Given the description of an element on the screen output the (x, y) to click on. 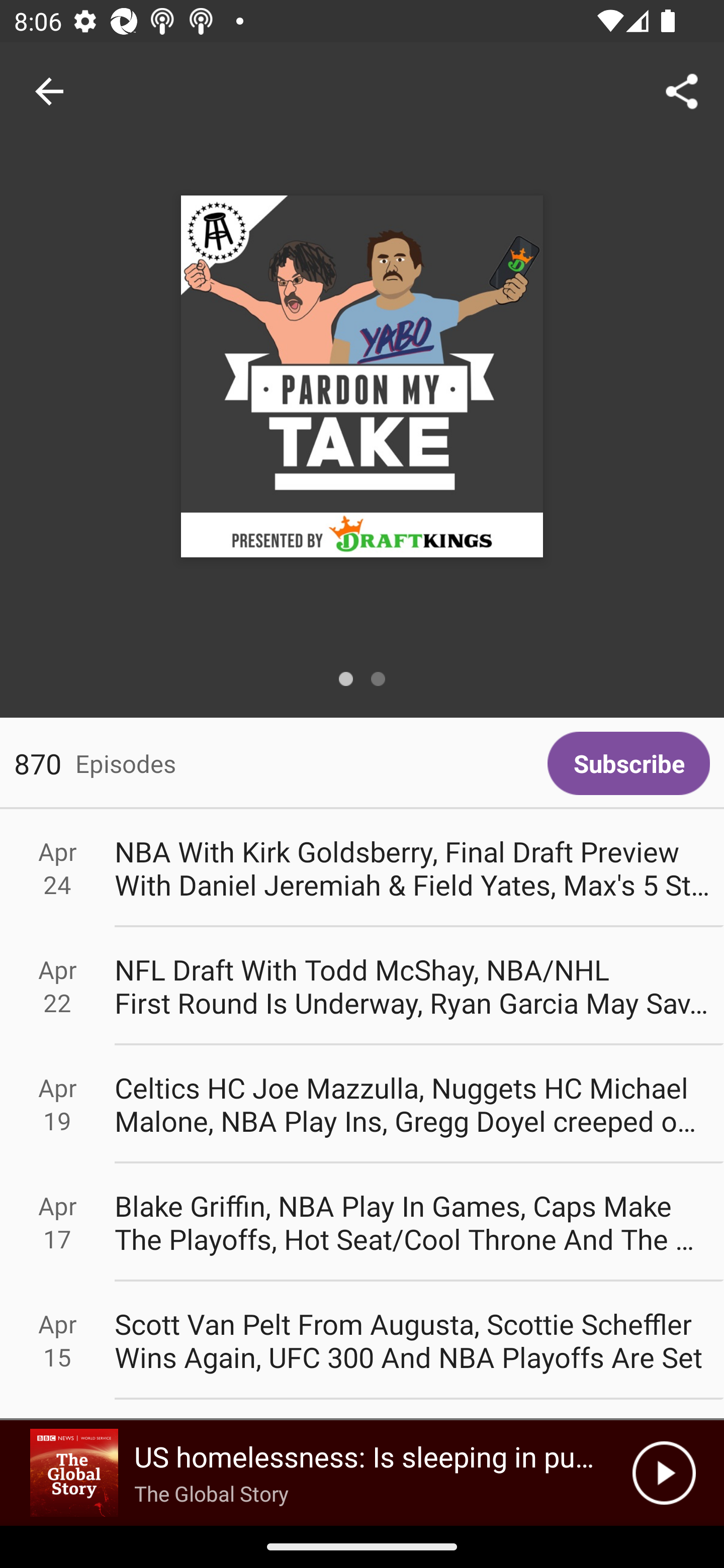
Navigate up (49, 91)
Share... (681, 90)
Subscribe (628, 763)
Play (663, 1472)
